Given the description of an element on the screen output the (x, y) to click on. 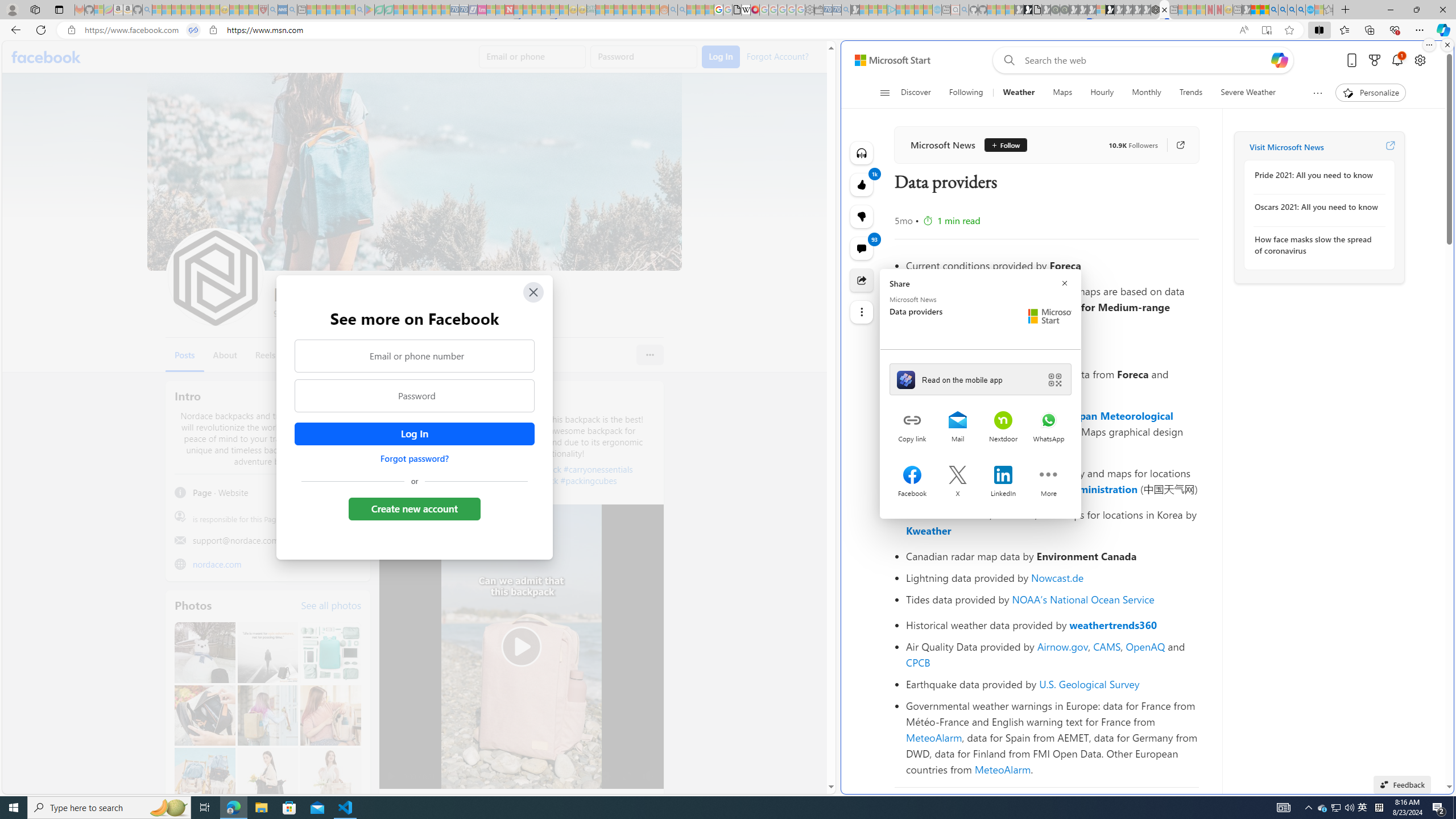
Sign in to your account - Sleeping (1100, 9)
Forgot password? (414, 458)
weathertrends360 (1112, 625)
Share on whatsapp (1048, 421)
